Given the description of an element on the screen output the (x, y) to click on. 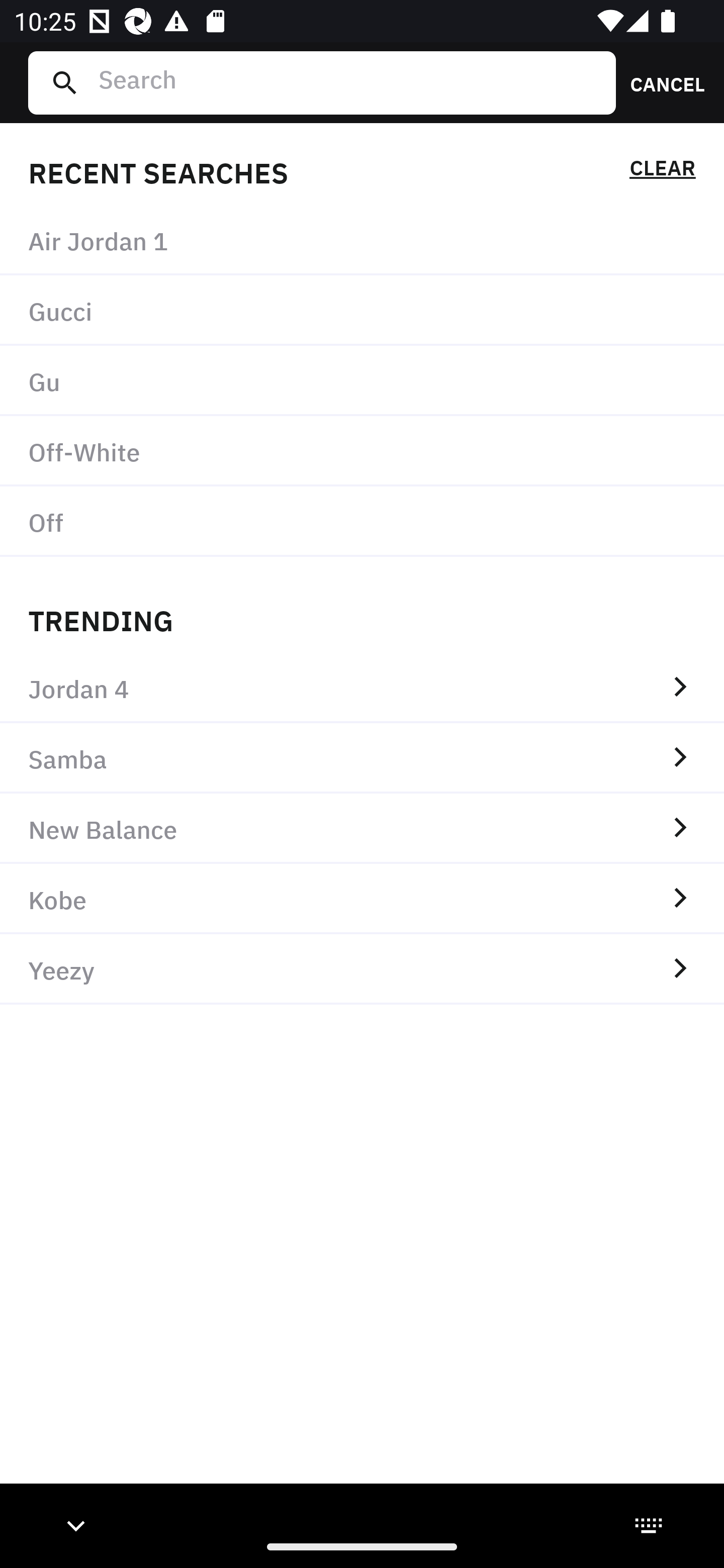
CANCEL (660, 82)
Search (349, 82)
CLEAR (662, 170)
Air Jordan 1 (362, 240)
Gucci (362, 310)
Gu (362, 380)
Off-White (362, 450)
Off (362, 521)
Jordan 4  (362, 687)
Samba  (362, 757)
New Balance  (362, 828)
Kobe  (362, 898)
Yeezy  (362, 969)
